Given the description of an element on the screen output the (x, y) to click on. 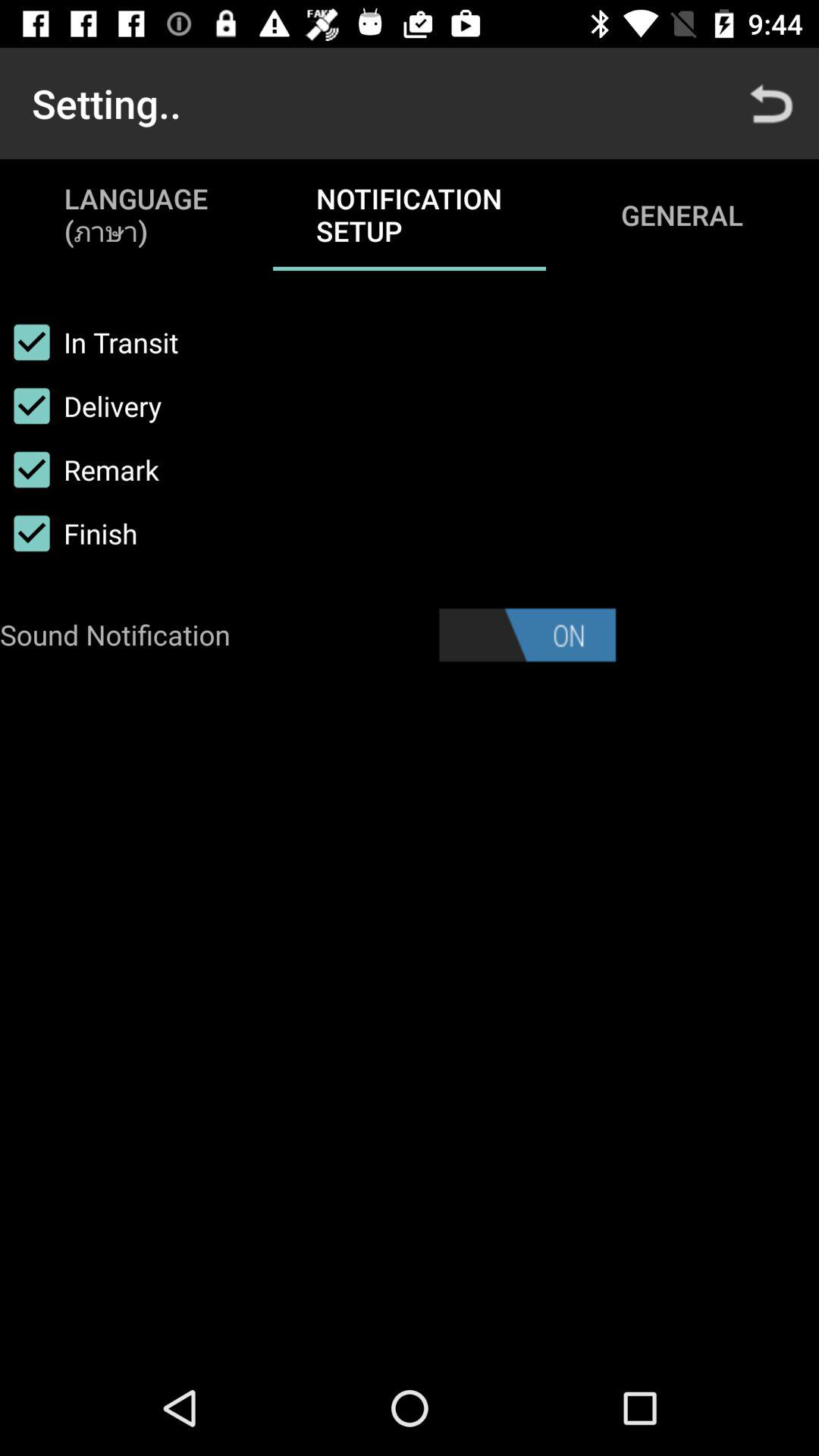
choose icon above the sound notification icon (68, 533)
